Given the description of an element on the screen output the (x, y) to click on. 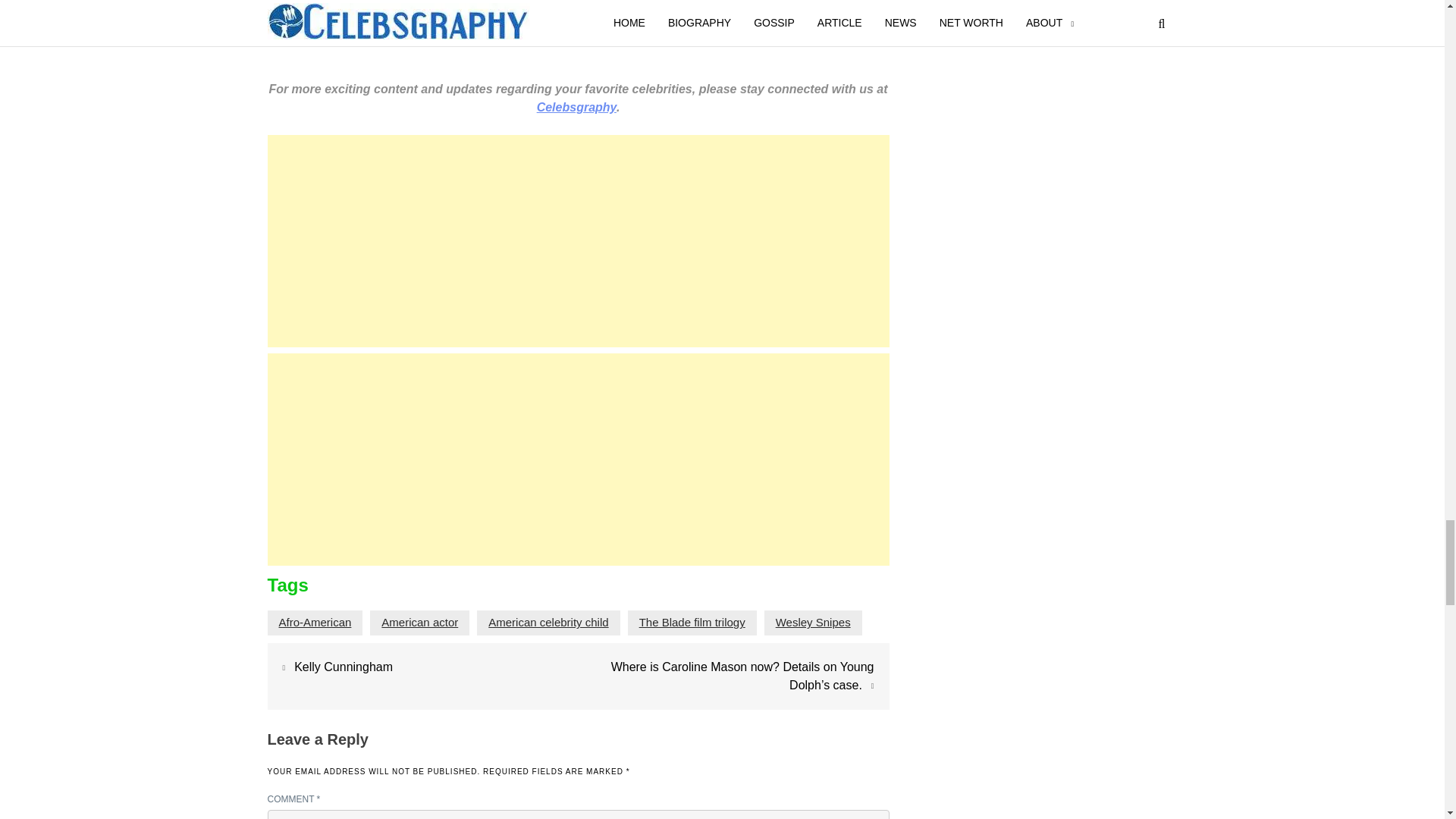
American celebrity child (547, 621)
The Blade film trilogy (692, 621)
Celebsgraphy (576, 106)
Afro-American (315, 621)
American actor (419, 621)
Kelly Cunningham (343, 666)
Wesley Snipes (813, 621)
